Given the description of an element on the screen output the (x, y) to click on. 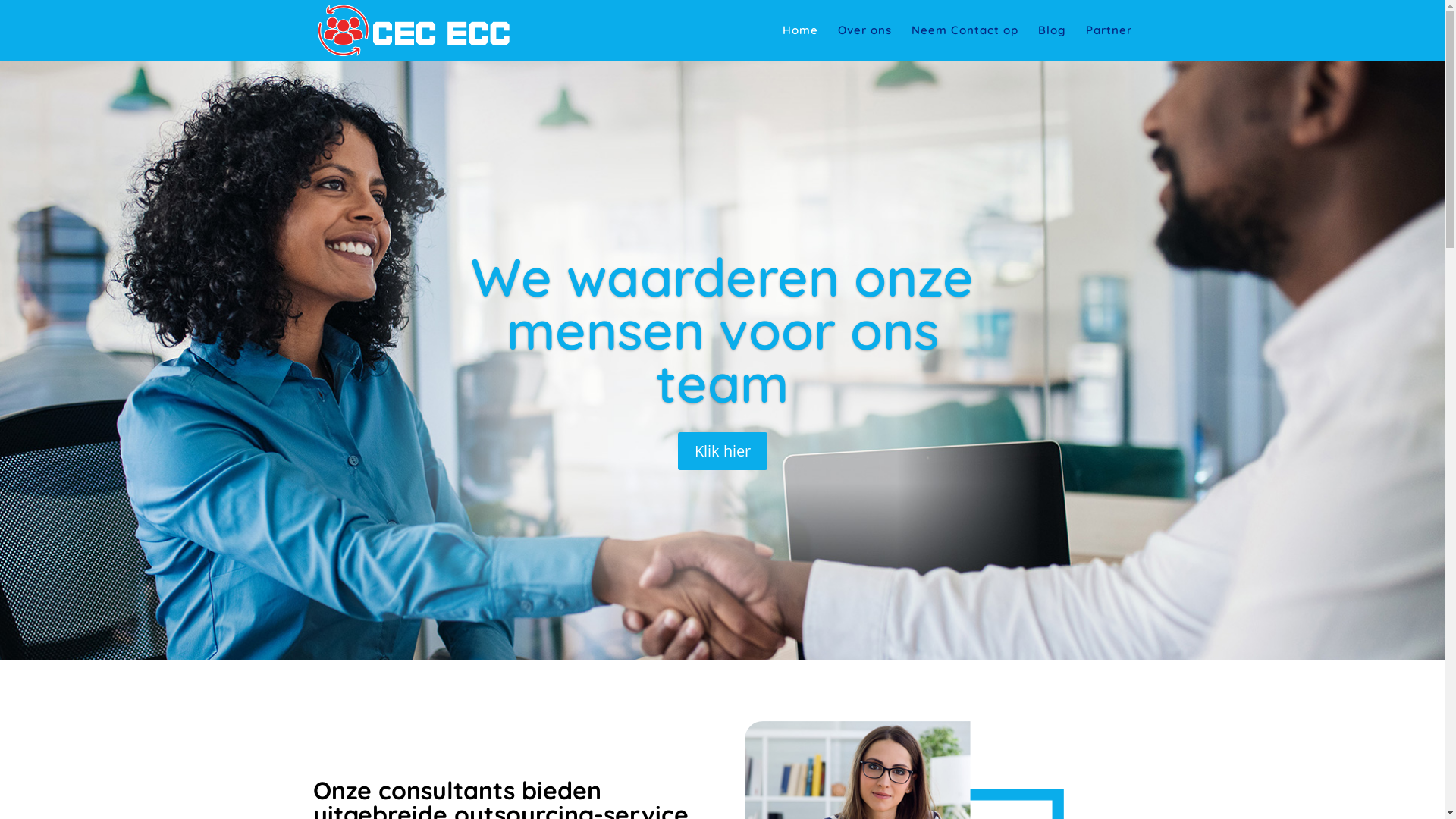
Home Element type: text (800, 42)
Neem Contact op Element type: text (964, 42)
Over ons Element type: text (864, 42)
Blog Element type: text (1051, 42)
Klik hier Element type: text (722, 451)
Partner Element type: text (1108, 42)
